Given the description of an element on the screen output the (x, y) to click on. 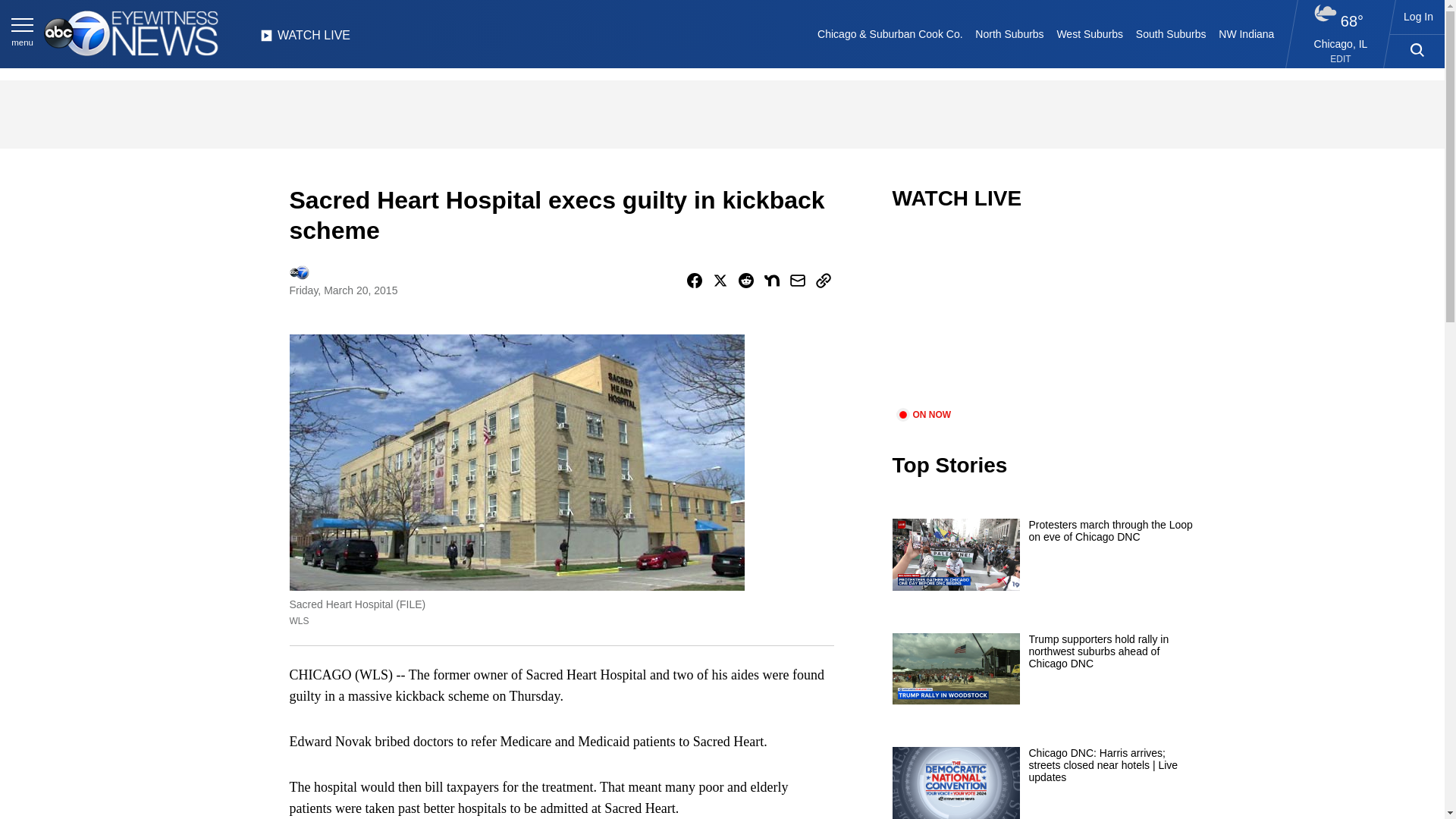
West Suburbs (1089, 33)
South Suburbs (1170, 33)
WATCH LIVE (305, 39)
North Suburbs (1009, 33)
NW Indiana (1246, 33)
video.title (1043, 318)
Chicago, IL (1340, 43)
EDIT (1340, 59)
